Given the description of an element on the screen output the (x, y) to click on. 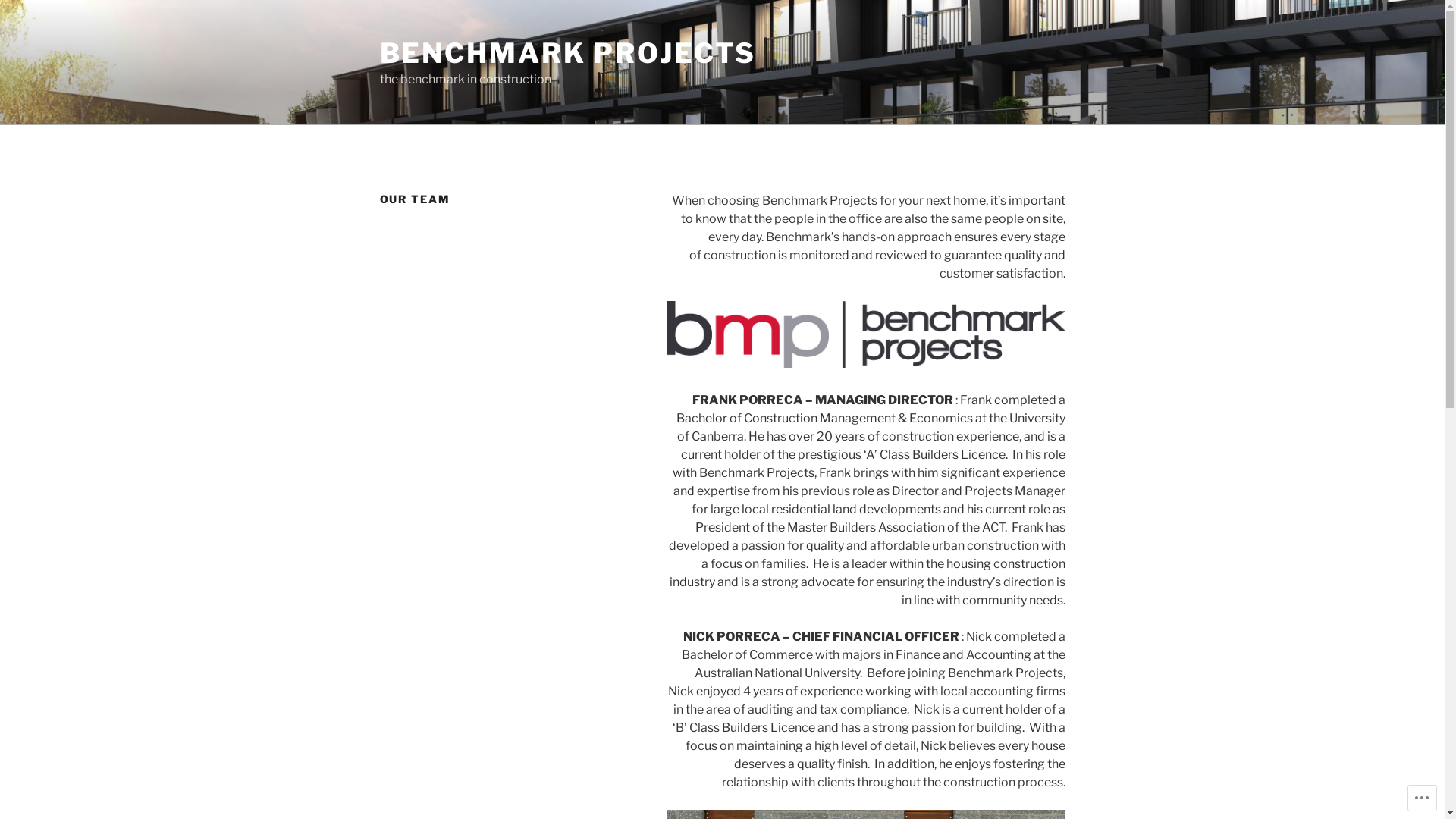
BENCHMARK PROJECTS Element type: text (567, 52)
